Given the description of an element on the screen output the (x, y) to click on. 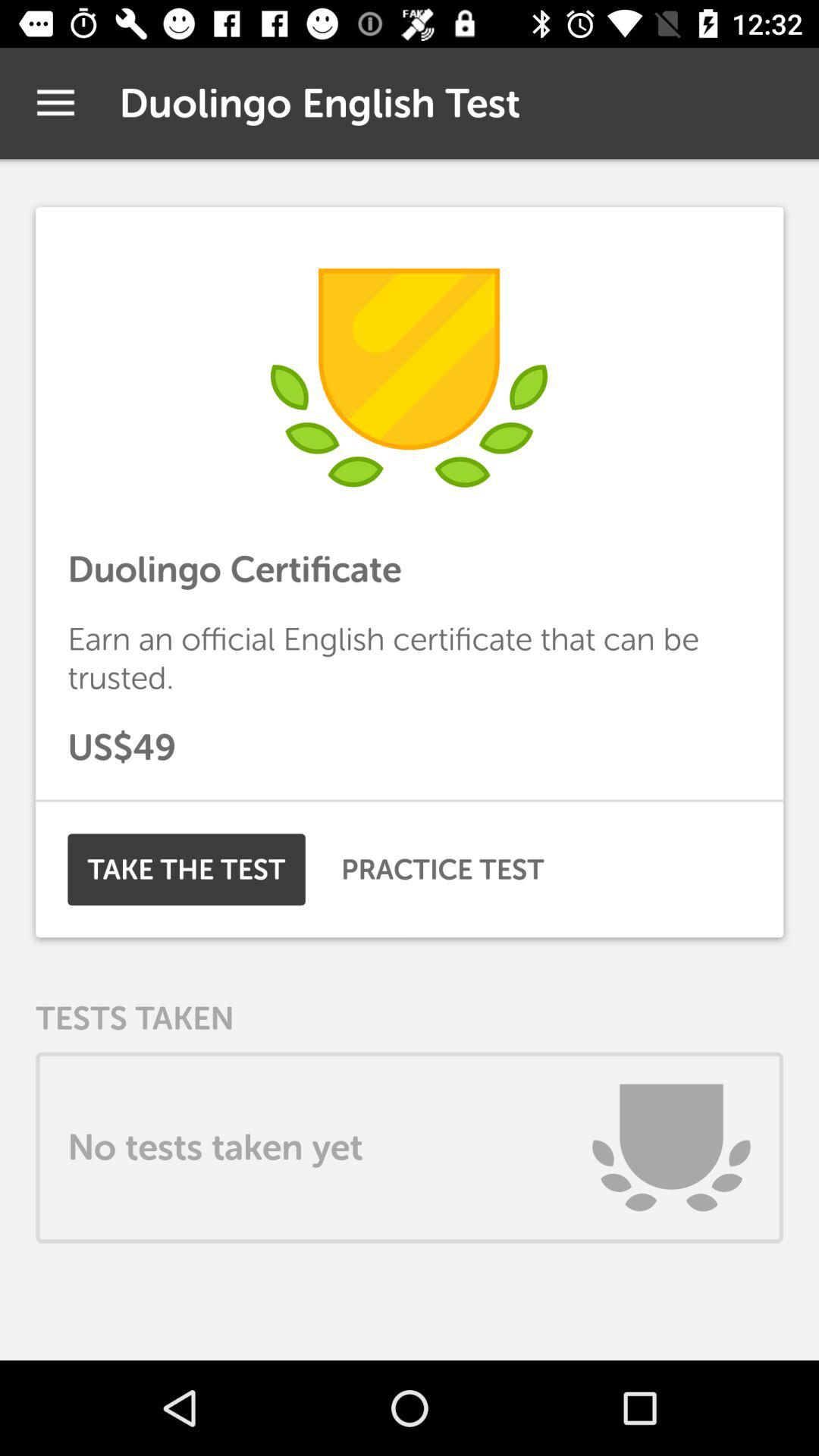
choose the item to the left of practice test icon (186, 869)
